Given the description of an element on the screen output the (x, y) to click on. 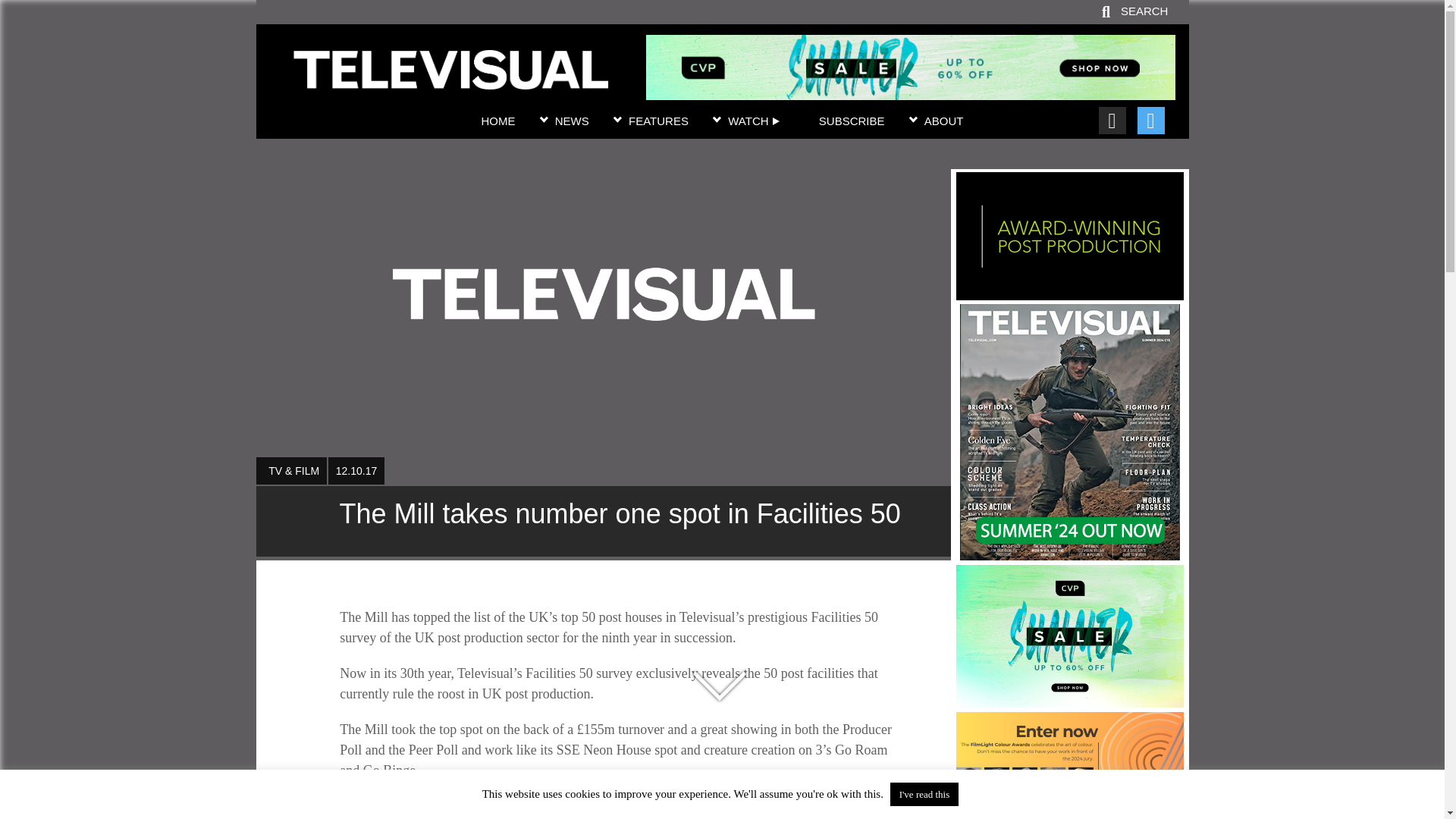
FEATURES (658, 121)
SUBSCRIBE (851, 121)
ABOUT (943, 121)
HOME (497, 121)
12.10.17 (356, 470)
WATCH (753, 121)
The Mill takes number one spot in Facilities 50 (603, 521)
NEWS (571, 121)
The Mill takes number one spot in Facilities 50 (451, 80)
